Given the description of an element on the screen output the (x, y) to click on. 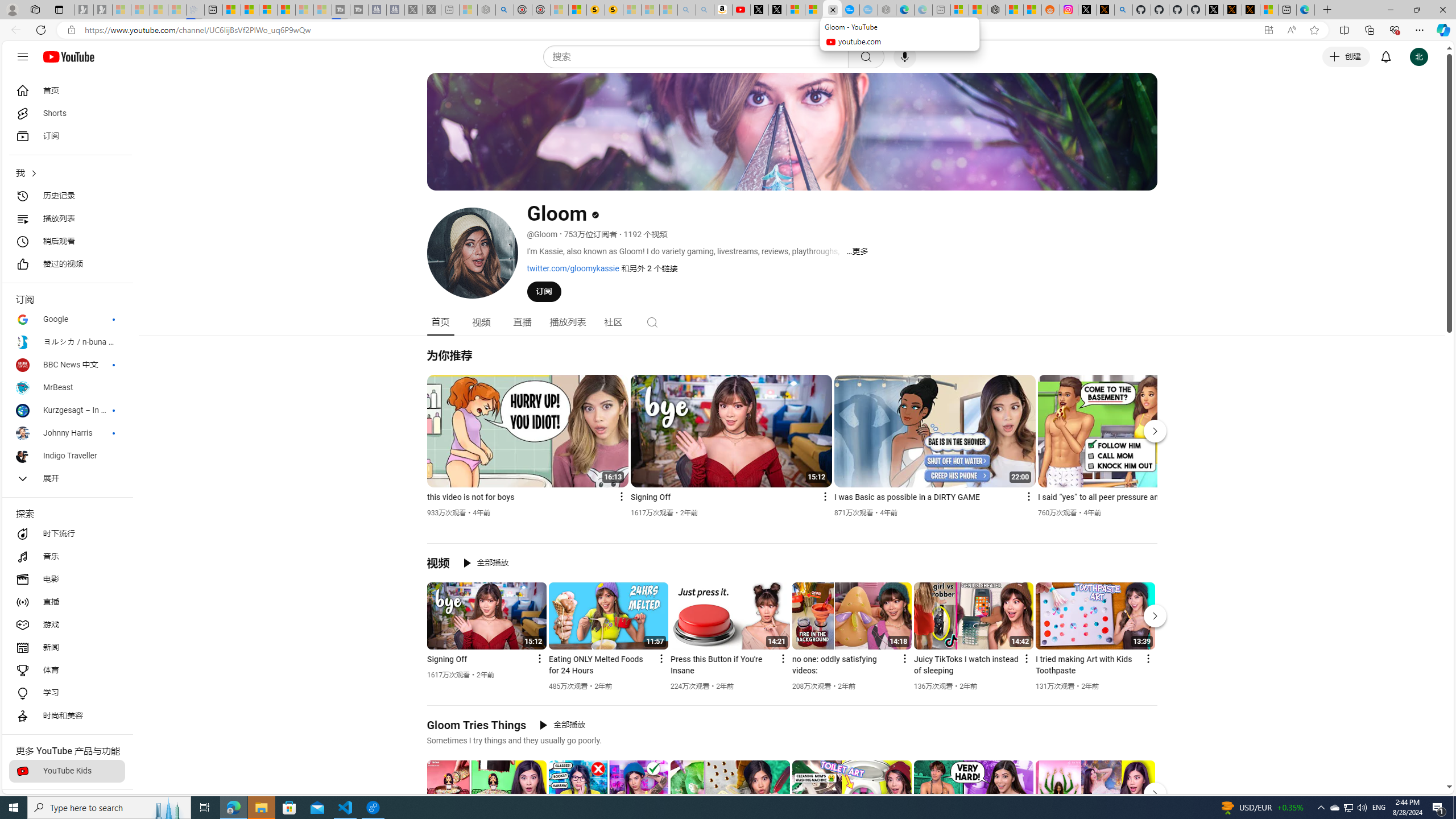
Newsletter Sign Up - Sleeping (102, 9)
amazon - Search - Sleeping (686, 9)
Close tab (832, 9)
App available. Install YouTube (1268, 29)
github - Search (1123, 9)
Day 1: Arriving in Yemen (surreal to be here) - YouTube (741, 9)
Streaming Coverage | T3 - Sleeping (341, 9)
